Given the description of an element on the screen output the (x, y) to click on. 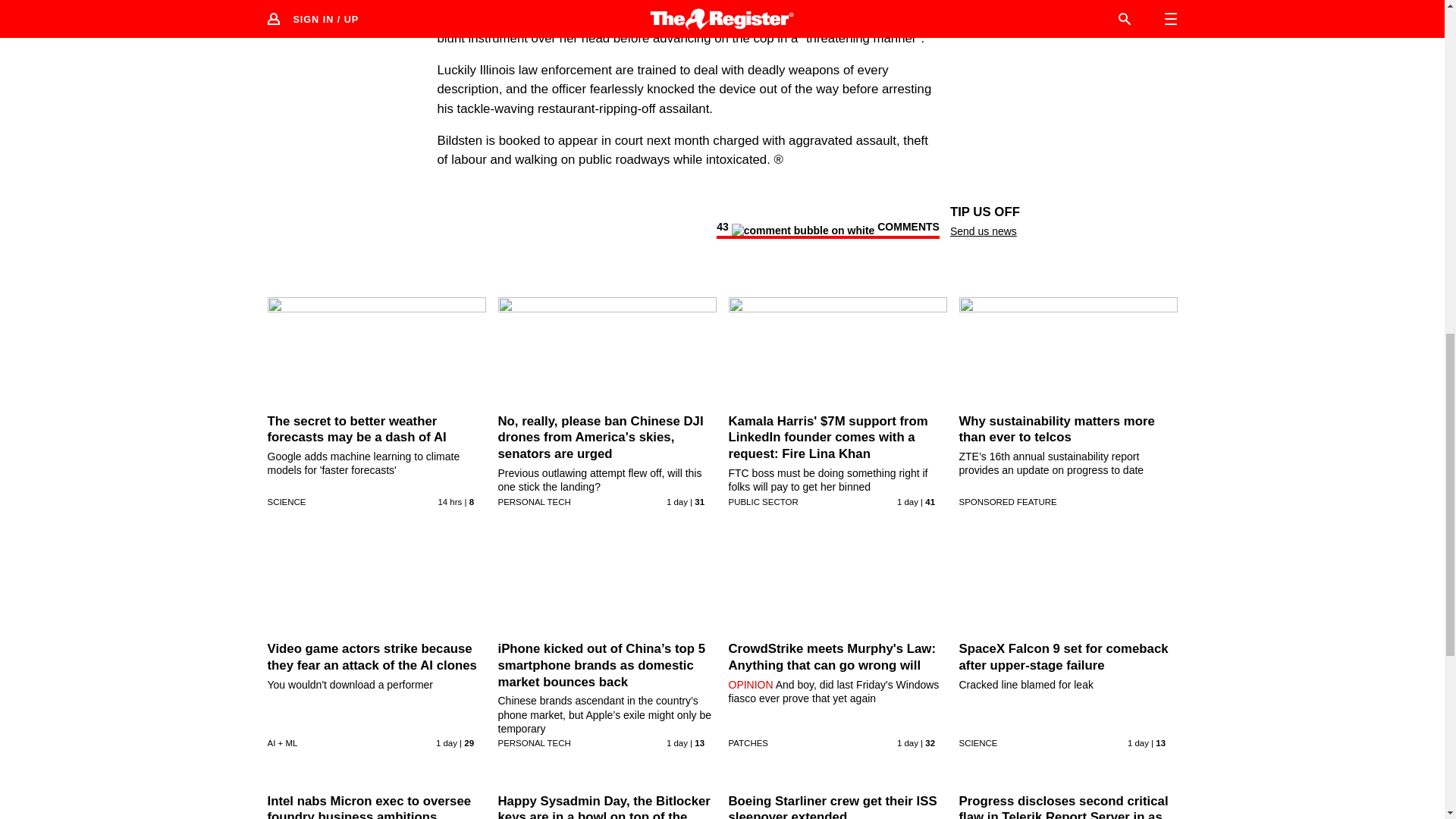
26 Jul 2024 21:58 (676, 501)
26 Jul 2024 20:24 (446, 742)
26 Jul 2024 17:38 (1137, 742)
26 Jul 2024 19:26 (676, 742)
View comments on this article (827, 229)
26 Jul 2024 21:14 (907, 501)
26 Jul 2024 18:36 (907, 742)
27 Jul 2024 13:27 (449, 501)
